Given the description of an element on the screen output the (x, y) to click on. 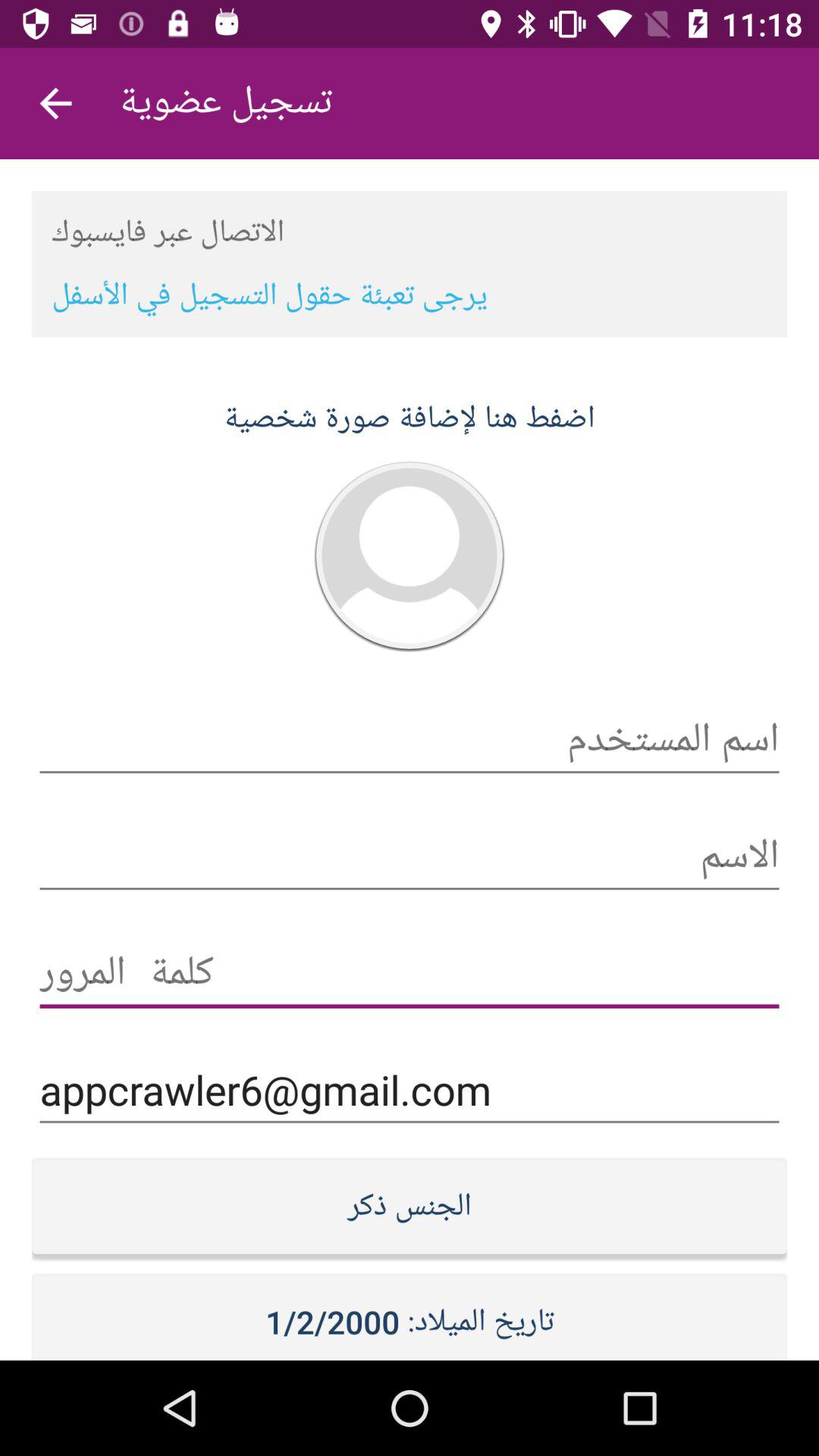
open the item below grace icon (409, 1089)
